Given the description of an element on the screen output the (x, y) to click on. 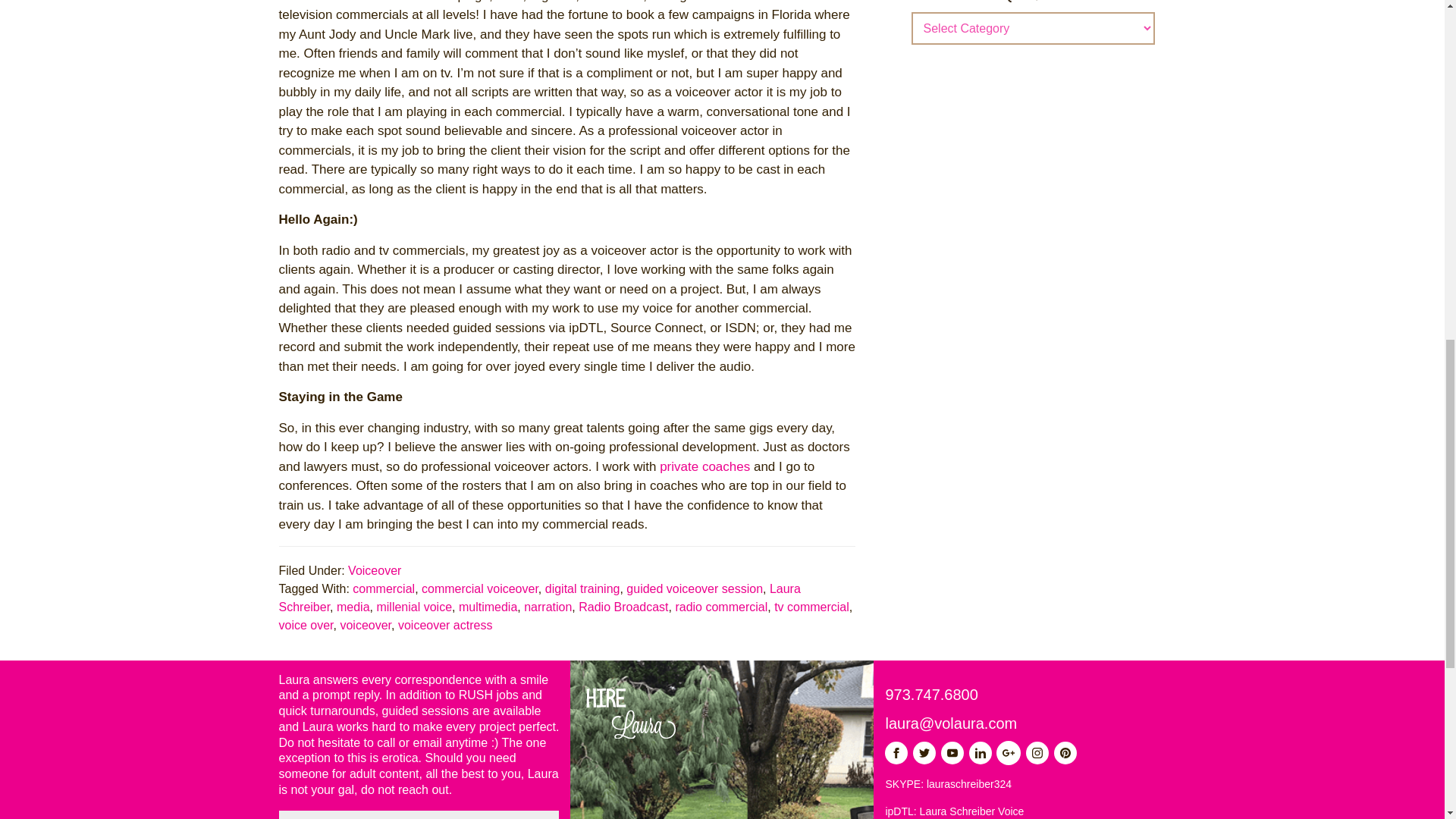
facebook (896, 753)
Laura Schreiber Voiceovers Categories (1032, 2)
